Given the description of an element on the screen output the (x, y) to click on. 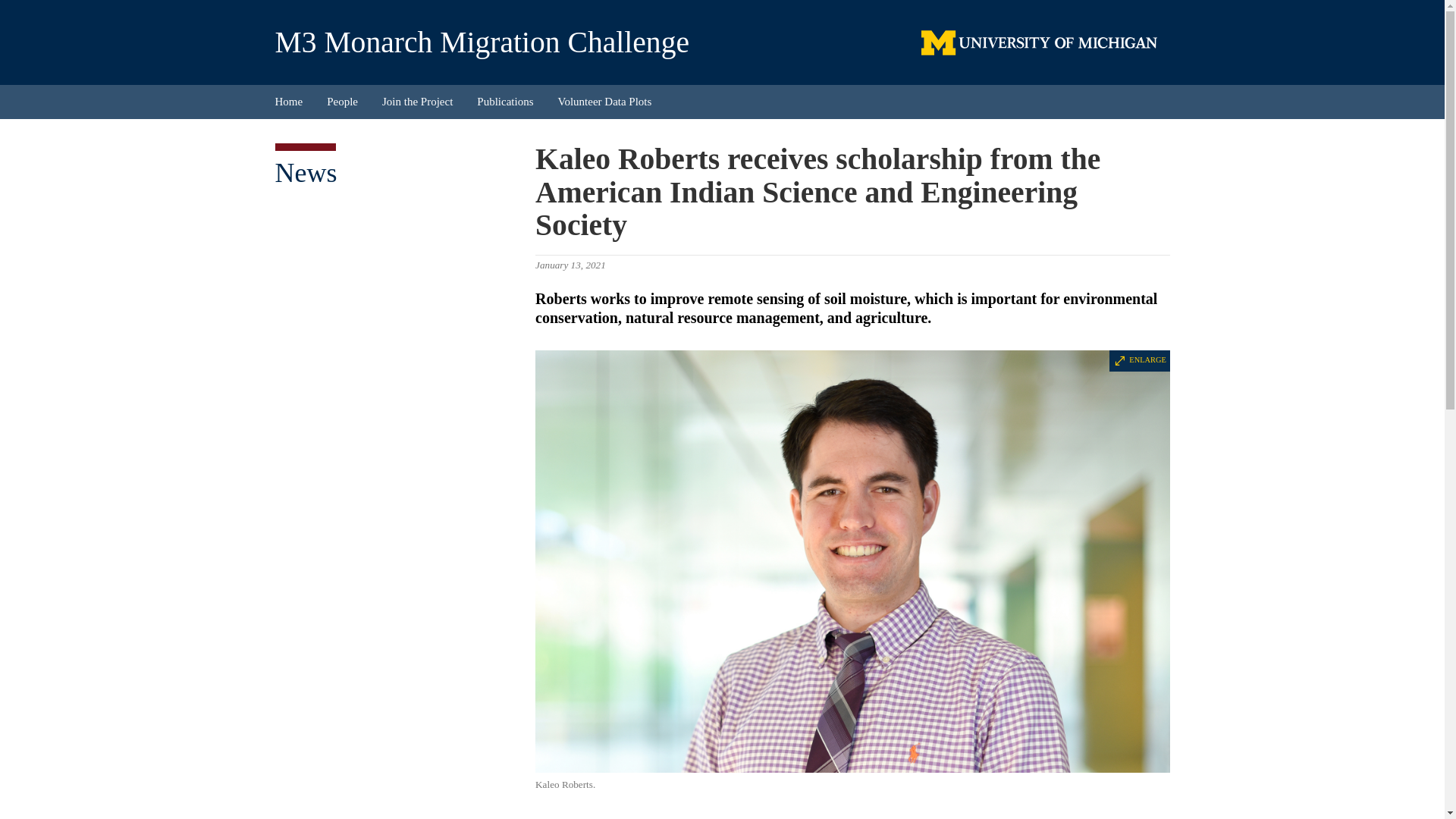
M3 Monarch Migration Challenge (481, 42)
Join the Project (416, 101)
News (305, 173)
Publications (504, 101)
People (341, 101)
Volunteer Data Plots (604, 101)
Home (294, 101)
